Given the description of an element on the screen output the (x, y) to click on. 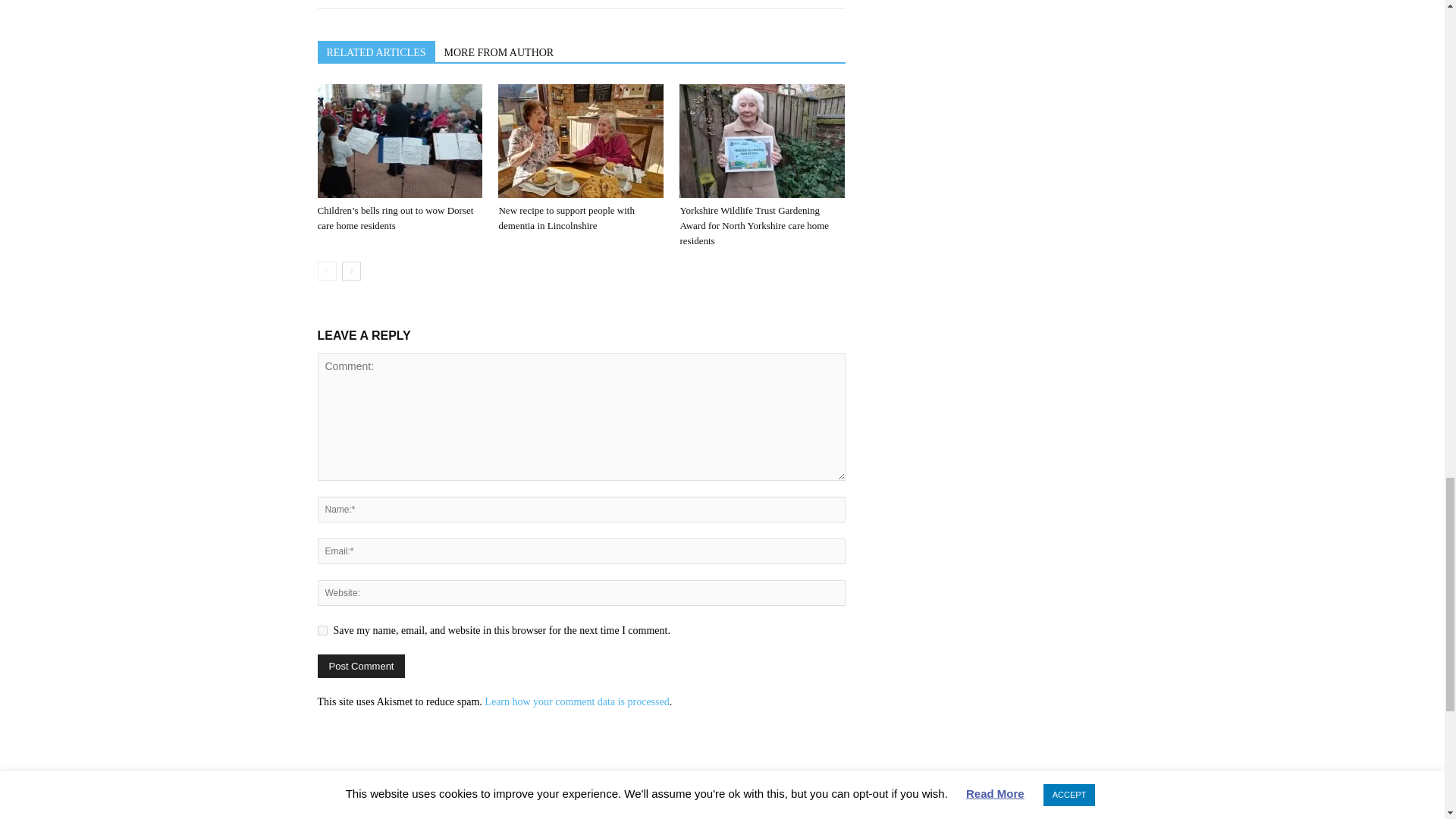
yes (321, 630)
New recipe to support people with dementia in Lincolnshire (565, 217)
Post Comment (360, 666)
New recipe to support people with dementia in Lincolnshire (580, 141)
